Given the description of an element on the screen output the (x, y) to click on. 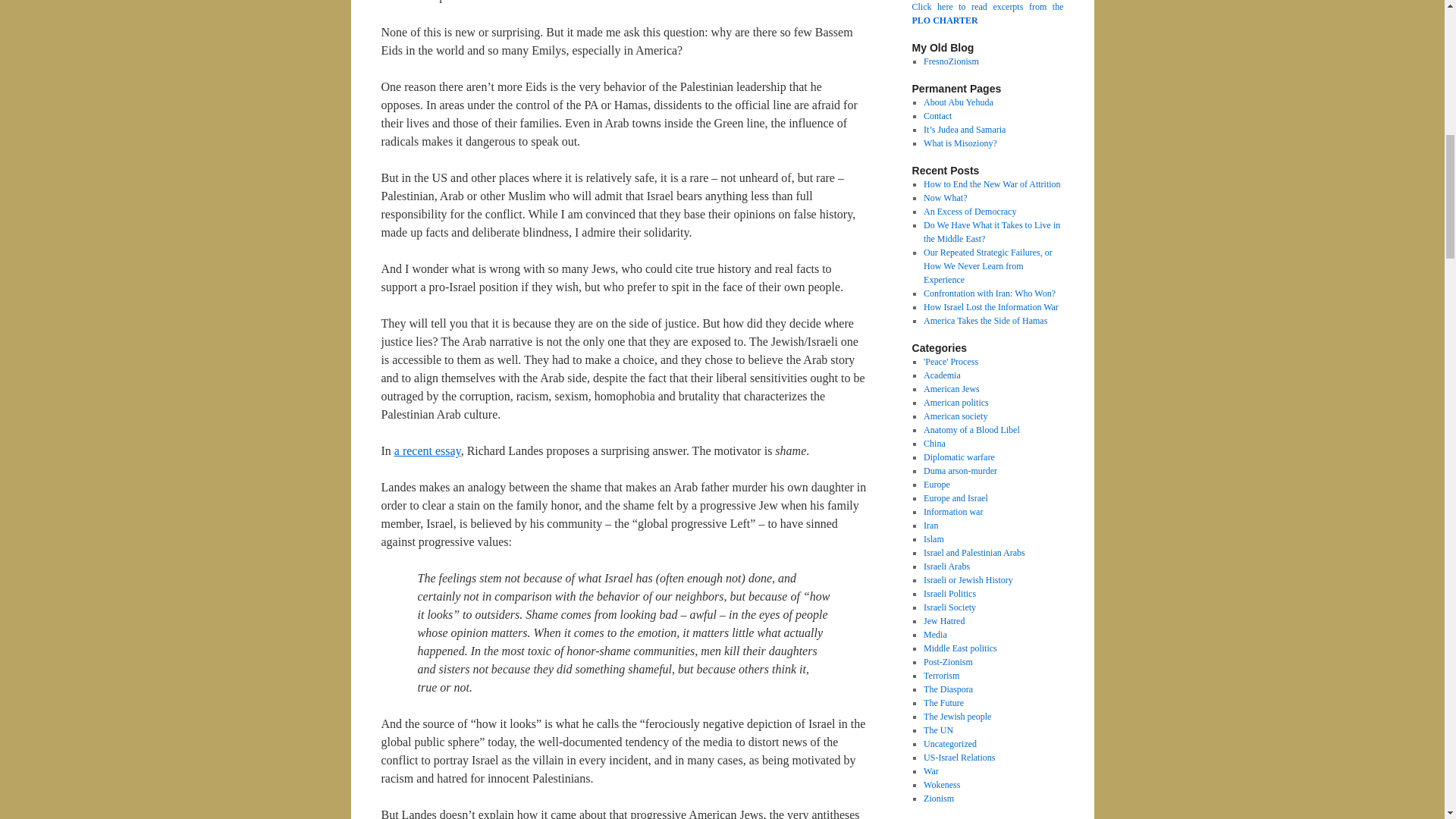
Contact (937, 115)
Confrontation with Iran: Who Won? (989, 293)
What is Misoziony? (960, 143)
How to End the New War of Attrition (991, 184)
a recent essay (427, 450)
FresnoZionism (950, 61)
PLO Charter excerpts (986, 13)
An Excess of Democracy (969, 211)
About Abu Yehuda (957, 102)
Click here to read excerpts from the PLO CHARTER (986, 13)
Now What? (944, 197)
Do We Have What it Takes to Live in the Middle East? (991, 232)
